Given the description of an element on the screen output the (x, y) to click on. 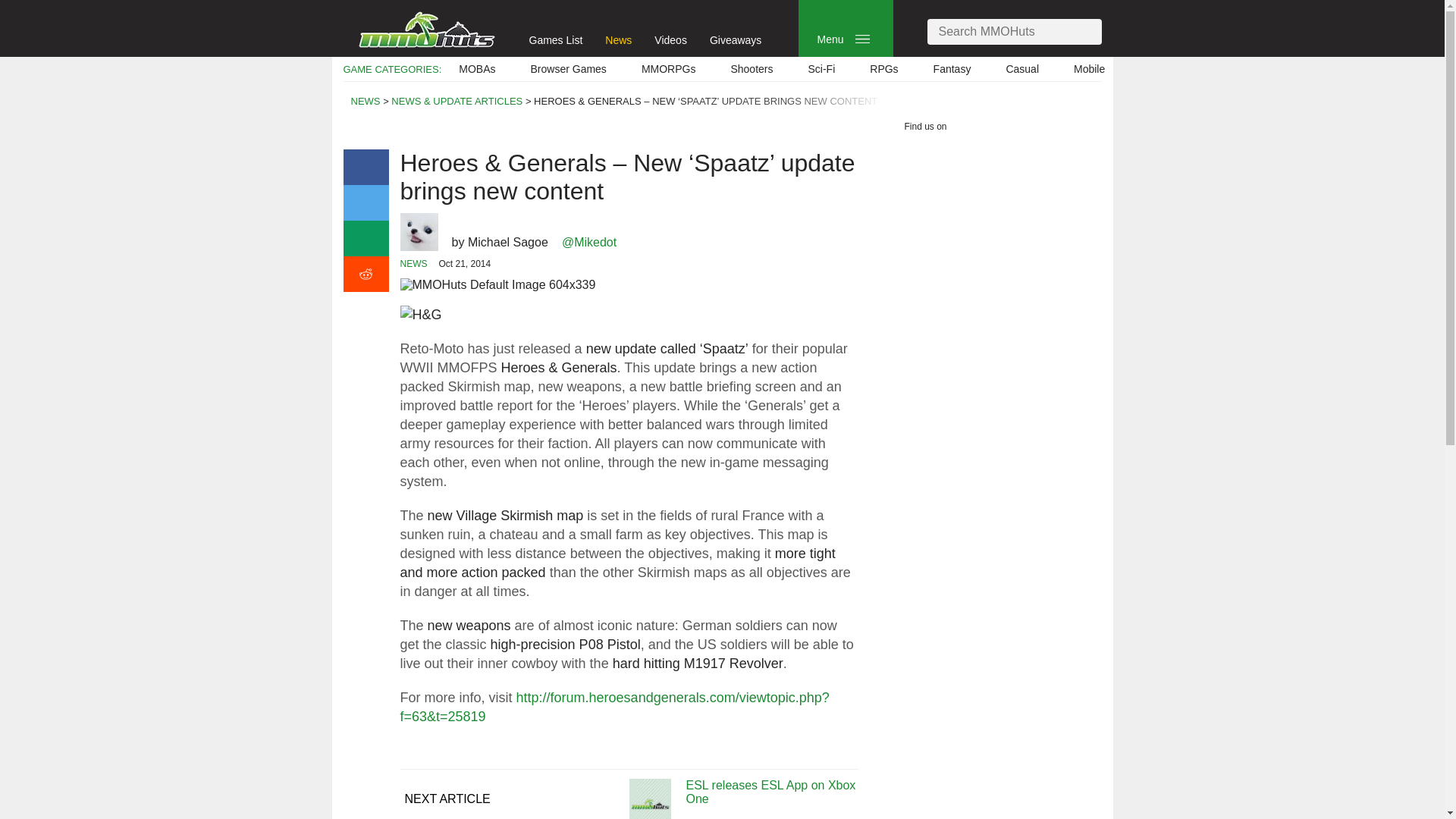
Casual (1022, 69)
NEWS (365, 101)
Visit the MOBA Games List (476, 69)
Shooters (751, 69)
Games List (556, 39)
MOBAs (476, 69)
Visit the Browser Games List (569, 69)
MMORPGs (668, 69)
Sci-Fi (821, 69)
Fantasy (952, 69)
